Given the description of an element on the screen output the (x, y) to click on. 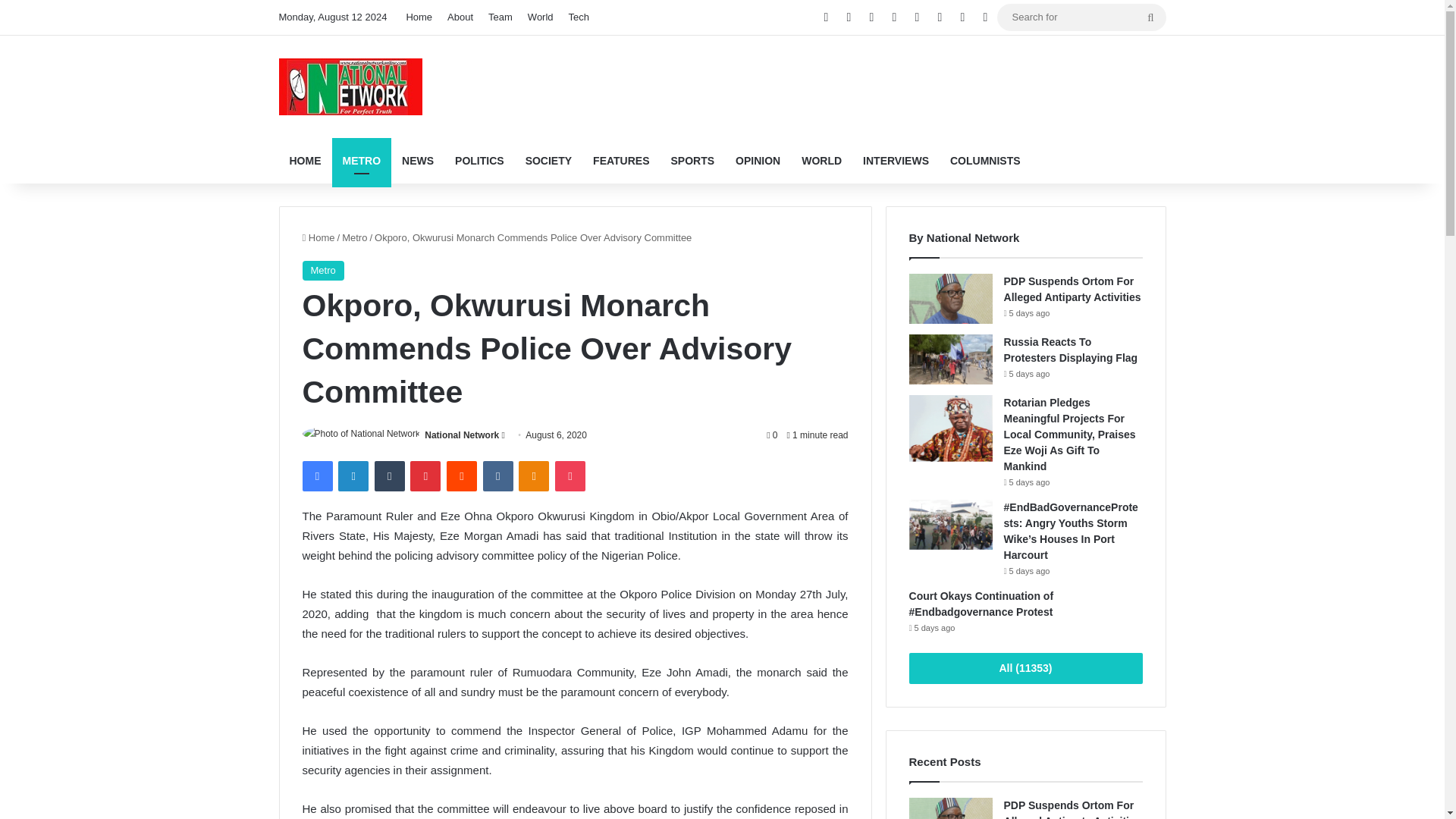
Pinterest (425, 476)
POLITICS (479, 160)
Search for (1150, 17)
INTERVIEWS (895, 160)
HOME (305, 160)
Search for (1080, 16)
Home (418, 17)
Team (499, 17)
Odnoklassniki (533, 476)
LinkedIn (352, 476)
